Given the description of an element on the screen output the (x, y) to click on. 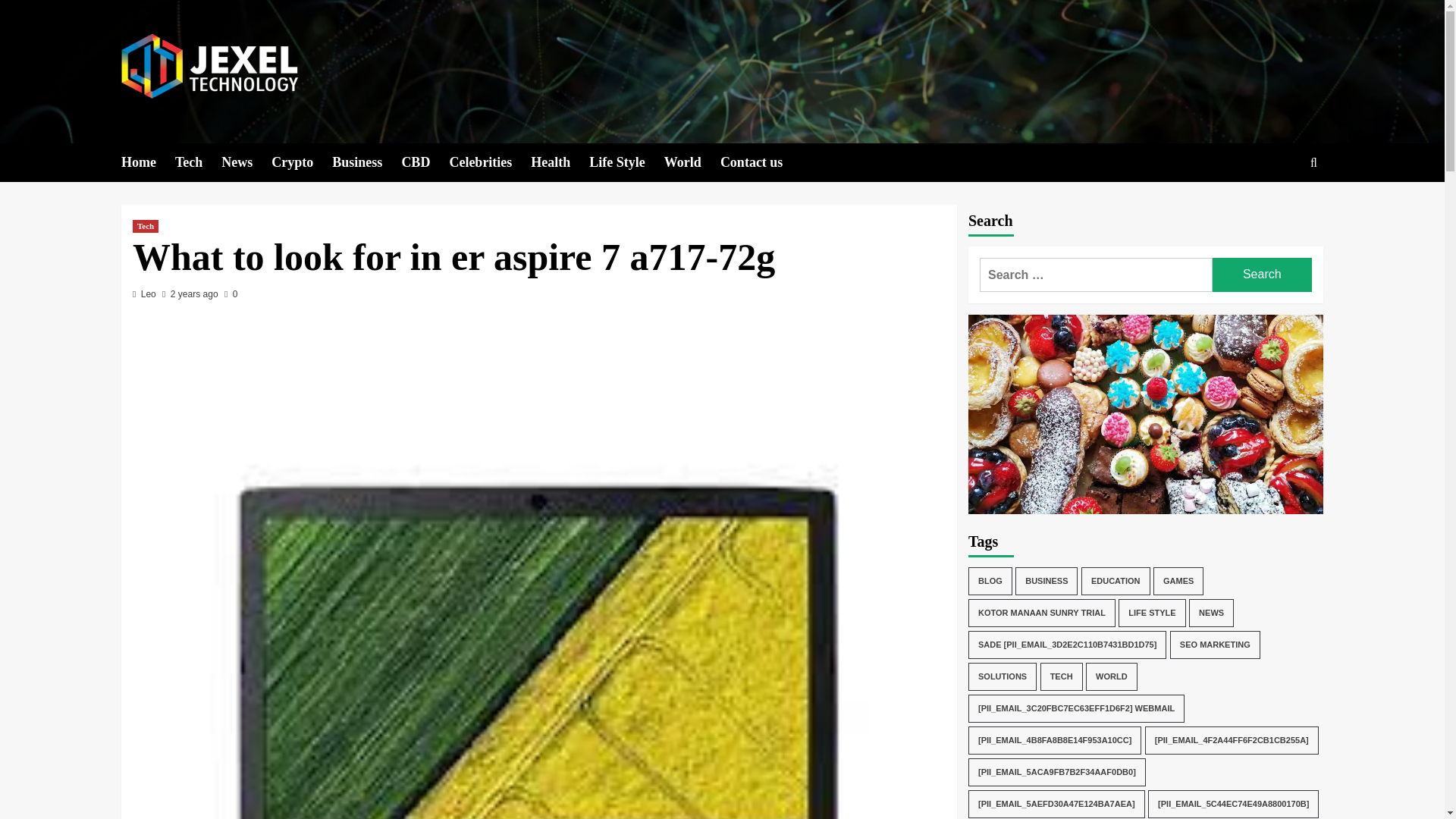
Search (1278, 209)
Tech (197, 162)
0 (230, 294)
Health (560, 162)
Search (1261, 274)
CBD (424, 162)
Business (366, 162)
World (691, 162)
Life Style (626, 162)
2 years ago (194, 294)
